Given the description of an element on the screen output the (x, y) to click on. 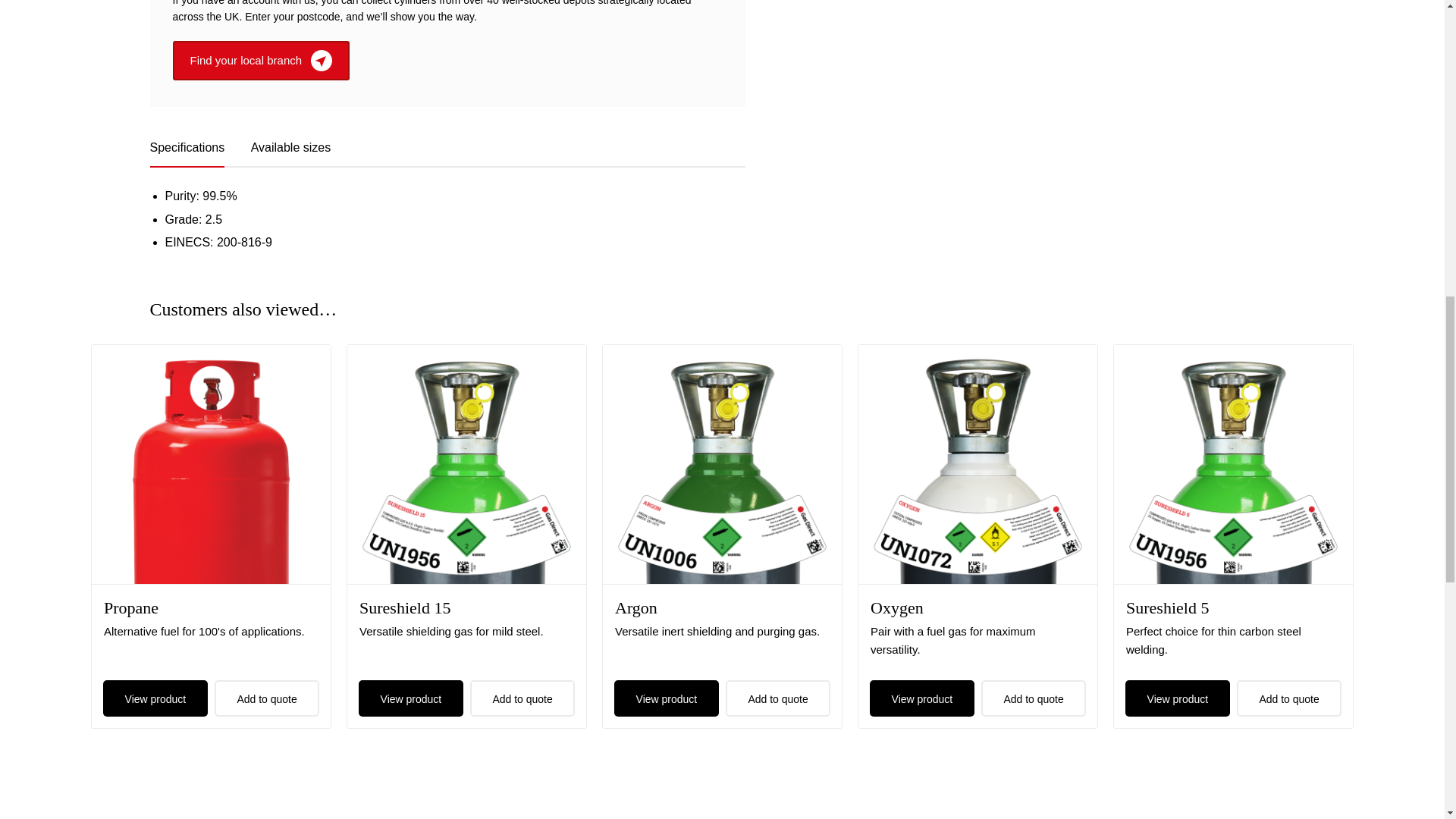
Find your local branch (261, 60)
Add to quote (266, 697)
Argon (636, 607)
Propane (130, 607)
View product (154, 697)
Sureshield 15 (404, 607)
Add to quote (777, 697)
View product (665, 697)
Add to quote (521, 697)
View product (411, 697)
